Given the description of an element on the screen output the (x, y) to click on. 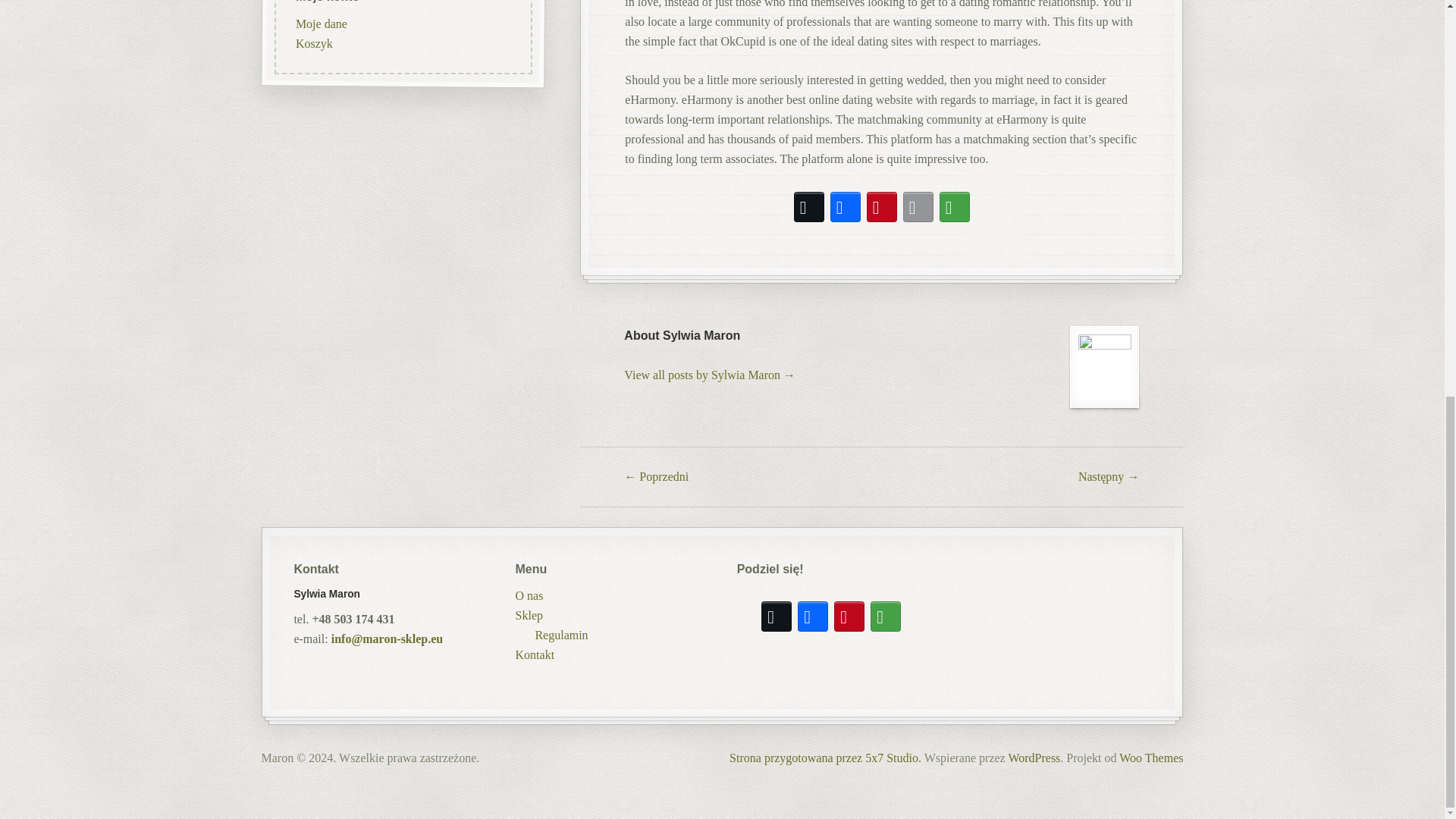
Kontakt (534, 654)
Koszyk (313, 147)
Moje dane (320, 128)
WordPress (1033, 757)
Sklep (529, 615)
upcykling (319, 4)
Strona przygotowana przez 5x7 Studio. (825, 757)
O nas (529, 595)
Regulamin (561, 634)
